Given the description of an element on the screen output the (x, y) to click on. 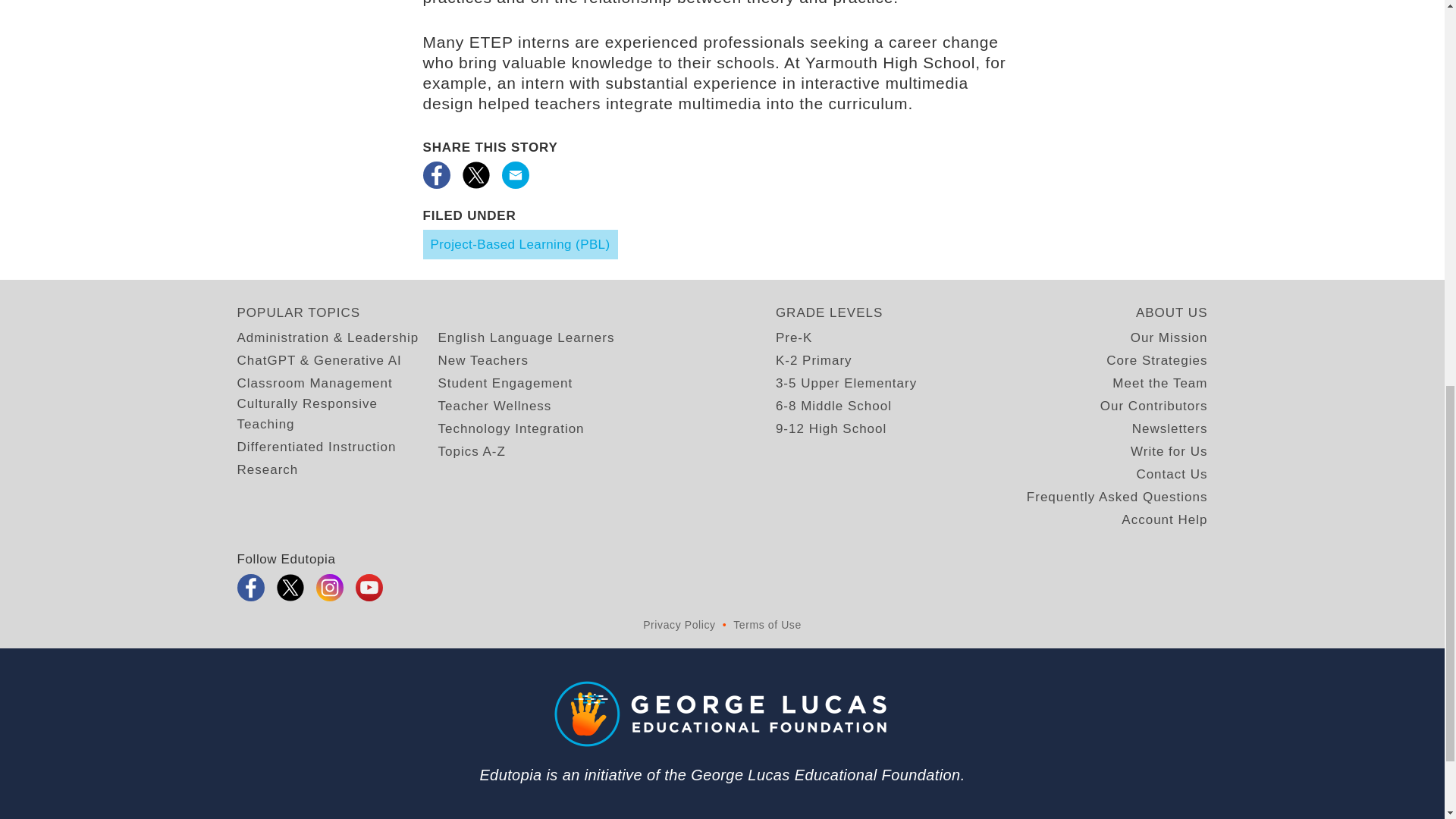
Pre-K (792, 250)
K-2 Primary (810, 272)
Technology Integration (508, 339)
Teacher Wellness (490, 317)
New Teachers (480, 272)
3-5 Upper Elementary (842, 295)
9-12 High School (828, 339)
Research (263, 361)
Topics A-Z (469, 361)
Classroom Management (309, 295)
